Given the description of an element on the screen output the (x, y) to click on. 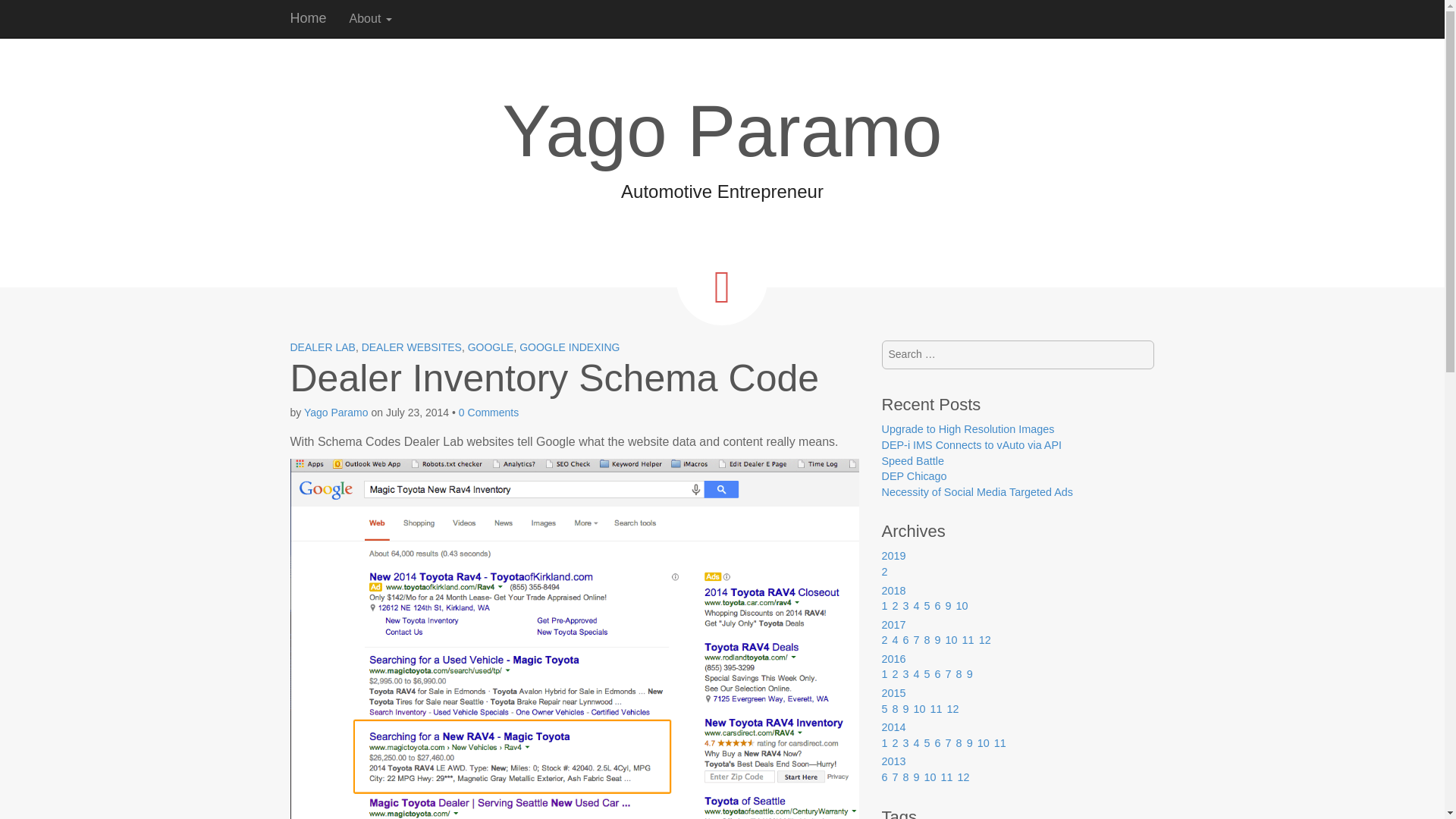
Skip to content (378, 8)
Home (308, 18)
DEALER WEBSITES (411, 346)
Search (23, 14)
Posts by Yago Paramo (336, 412)
Necessity of Social Media Targeted Ads (976, 491)
GOOGLE (490, 346)
DEP Chicago (913, 476)
DEP-i IMS Connects to vAuto via API (970, 444)
Skip to content (378, 8)
10 (962, 605)
Speed Battle (911, 460)
July 23, 2014 (416, 412)
2019 (892, 555)
2018 (892, 590)
